Given the description of an element on the screen output the (x, y) to click on. 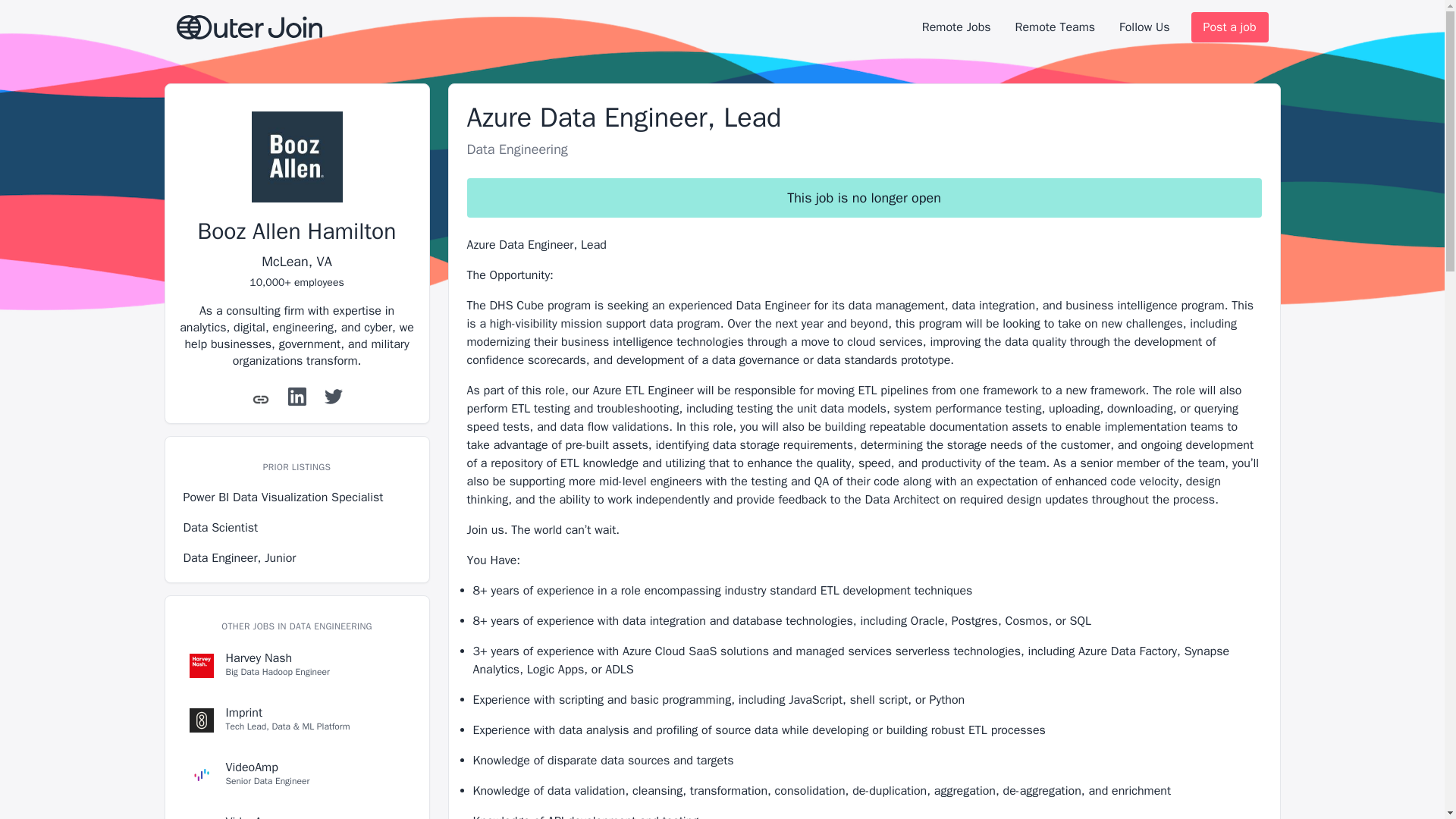
Remote Teams (1054, 27)
Post a job (1229, 27)
Power BI Data Visualization Specialist (296, 497)
Remote Jobs (956, 27)
Follow Us (1143, 27)
Data Scientist (296, 527)
Booz Allen Hamilton (297, 231)
Data Engineer, Junior (296, 812)
